Given the description of an element on the screen output the (x, y) to click on. 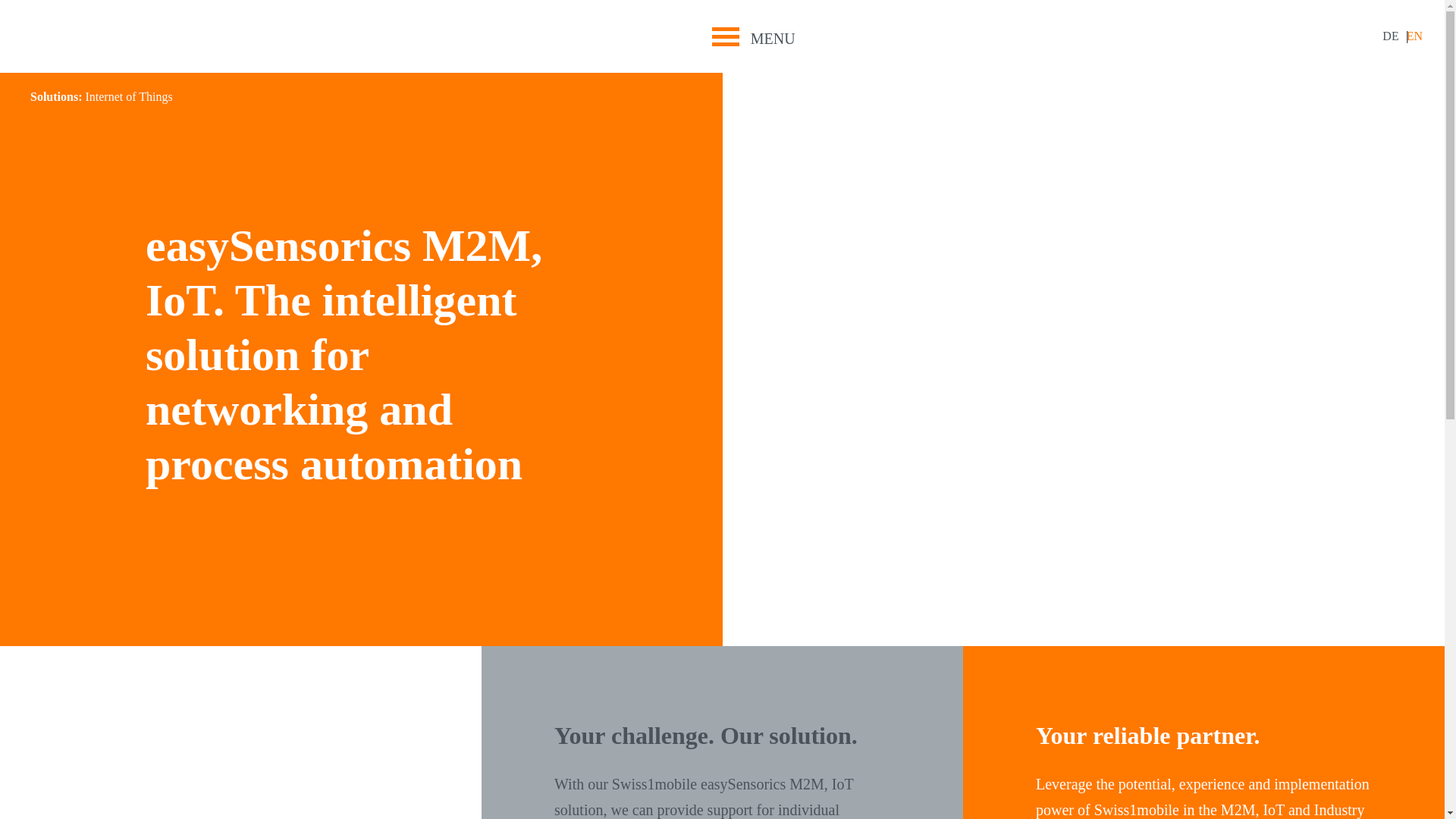
DE (1389, 35)
